Given the description of an element on the screen output the (x, y) to click on. 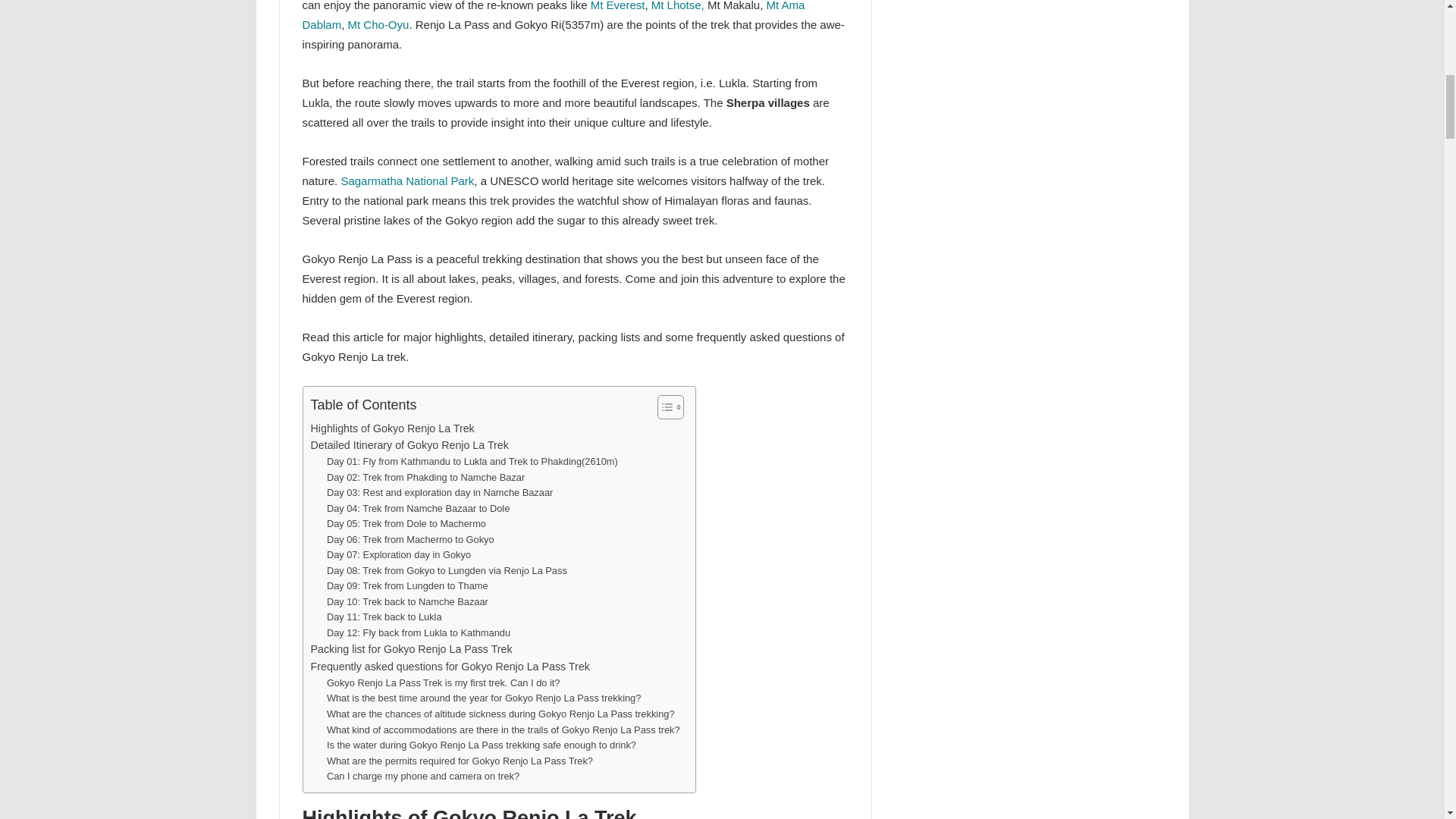
Mt Cho-Oyu (378, 24)
Day 06: Trek from Machermo to Gokyo (410, 539)
Day 04: Trek from Namche Bazaar to Dole (417, 508)
Day 06: Trek from Machermo to Gokyo (410, 539)
Highlights of Gokyo Renjo La Trek (392, 428)
Day 02: Trek from Phakding to Namche Bazar (425, 478)
Day 11: Trek back to Lukla (384, 617)
Day 04: Trek from Namche Bazaar to Dole (417, 508)
Day 03: Rest and exploration day in Namche Bazaar (439, 493)
Day 05: Trek from Dole to Machermo (406, 524)
Day 08: Trek from Gokyo to Lungden via Renjo La Pass (446, 571)
Detailed Itinerary of Gokyo Renjo La Trek (409, 445)
Day 10: Trek back to Namche Bazaar (406, 602)
Detailed Itinerary of Gokyo Renjo La Trek (409, 445)
Mt Lhotse, (677, 5)
